Given the description of an element on the screen output the (x, y) to click on. 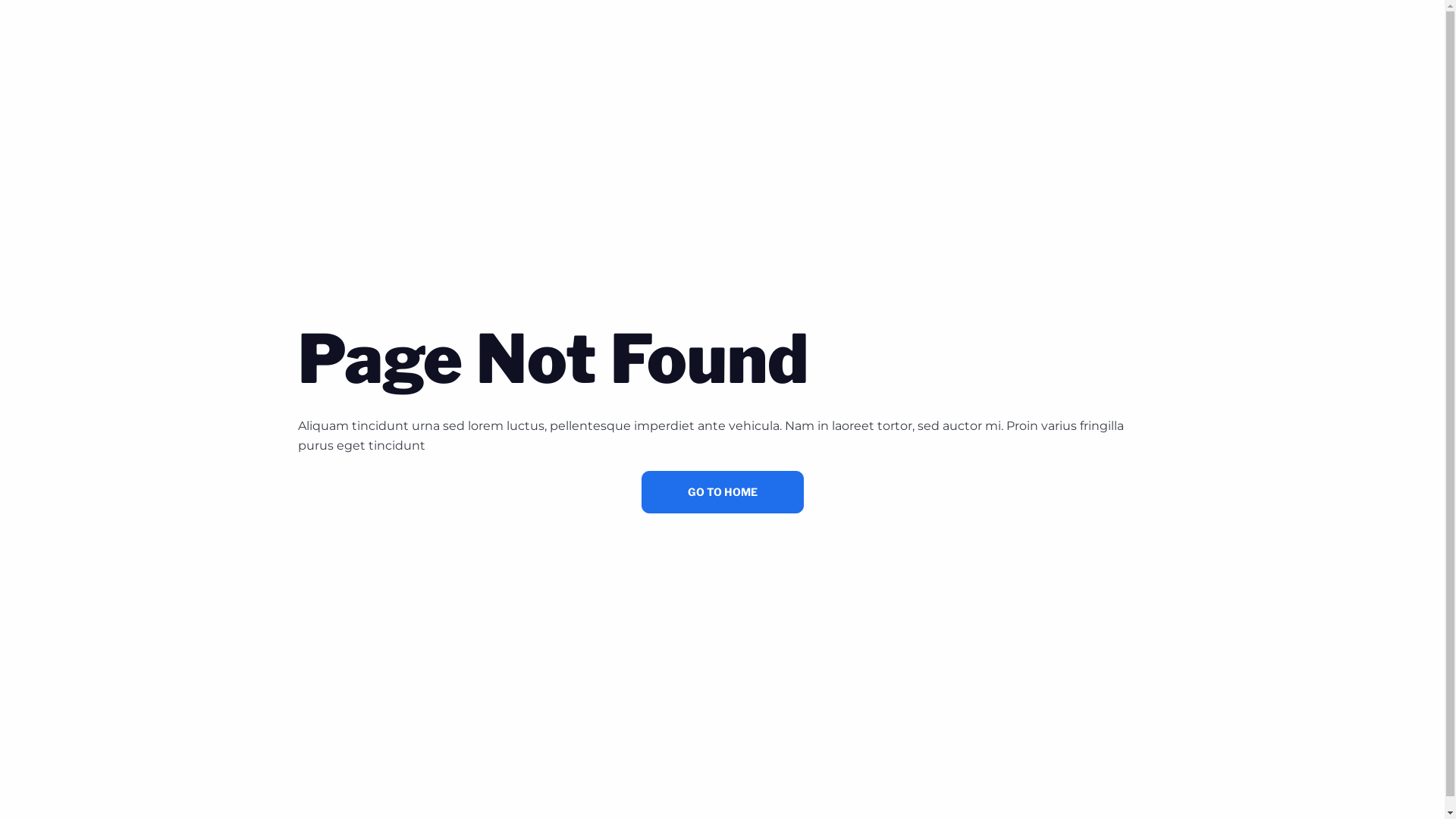
GO TO HOME Element type: text (722, 491)
